Given the description of an element on the screen output the (x, y) to click on. 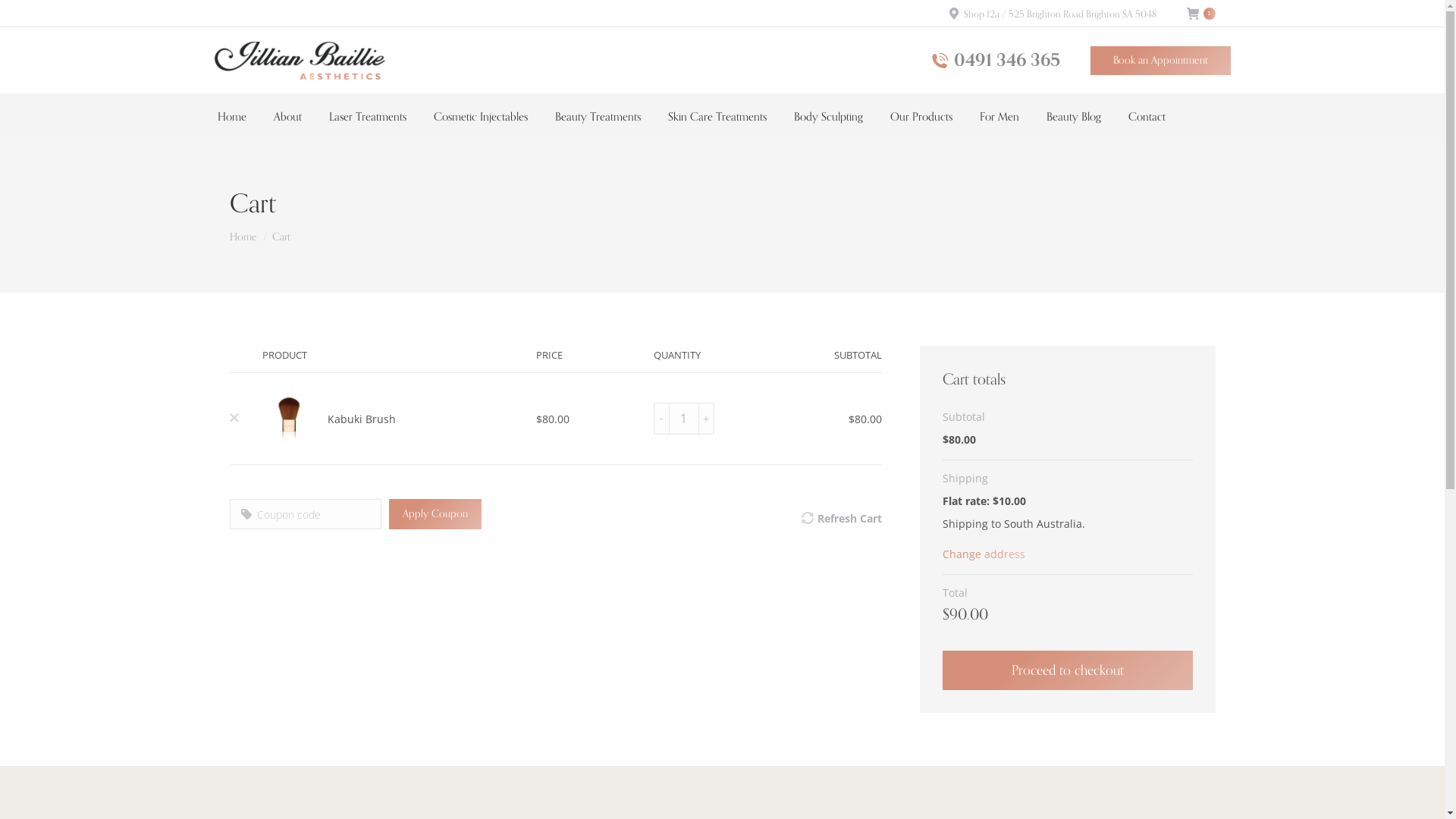
Body Sculpting Element type: text (827, 116)
Refresh Cart Element type: text (849, 518)
About Element type: text (286, 116)
Proceed to checkout Element type: text (1066, 670)
Home Element type: text (230, 116)
Beauty Blog Element type: text (1073, 116)
Change address Element type: text (982, 553)
Kabuki Brush Element type: text (361, 417)
Cosmetic Injectables Element type: text (480, 116)
Contact Element type: text (1146, 116)
Apply Coupon Element type: text (434, 513)
 1 Element type: text (1200, 13)
Laser Treatments Element type: text (367, 116)
Qty Element type: hover (683, 418)
Book an Appointment Element type: text (1160, 59)
Beauty Treatments Element type: text (597, 116)
For Men Element type: text (999, 116)
Our Products Element type: text (921, 116)
Skin Care Treatments Element type: text (716, 116)
Home Element type: text (242, 236)
